Given the description of an element on the screen output the (x, y) to click on. 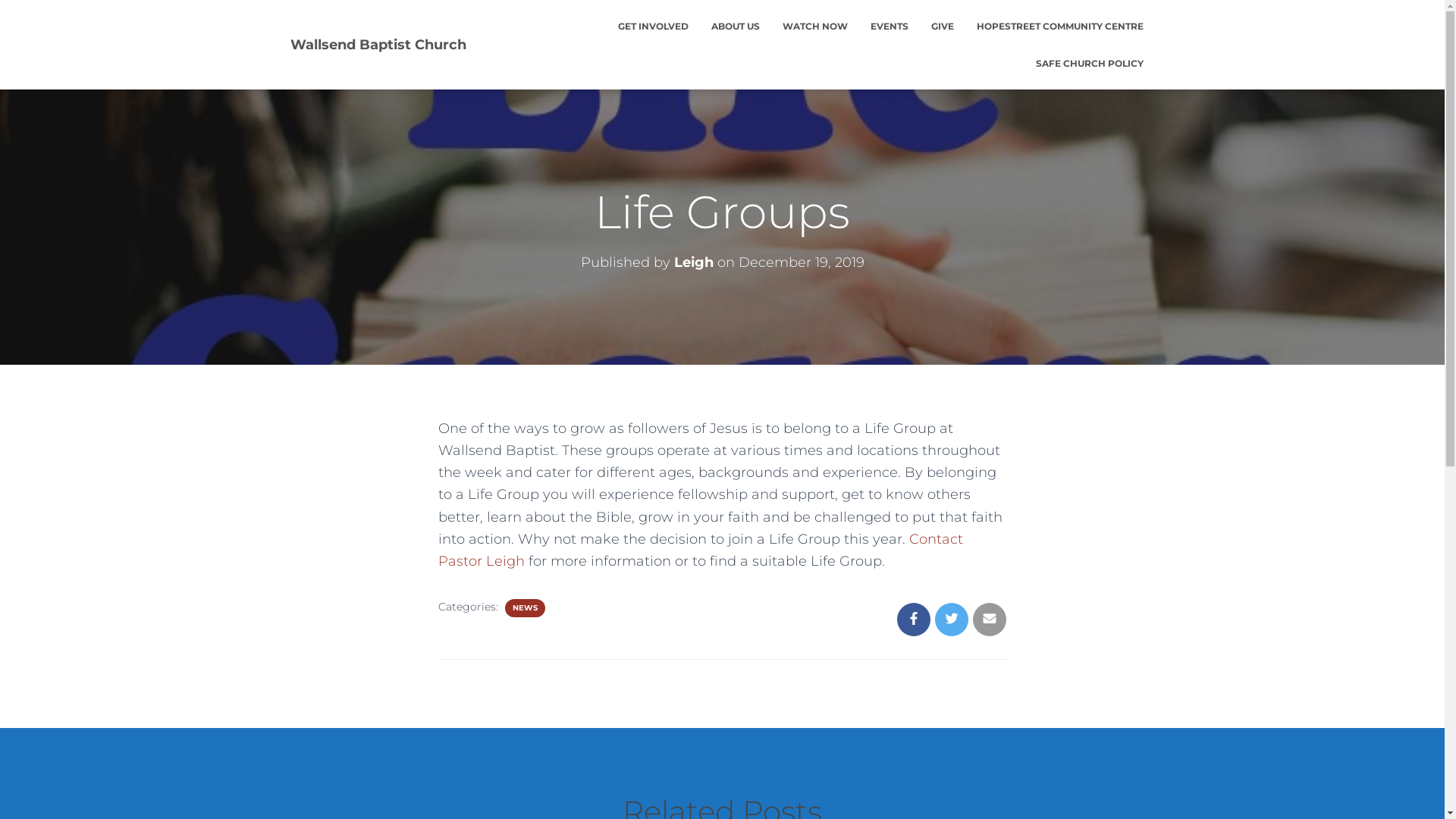
EVENTS Element type: text (888, 25)
NEWS Element type: text (524, 608)
GIVE Element type: text (941, 25)
ABOUT US Element type: text (734, 25)
SAFE CHURCH POLICY Element type: text (1088, 62)
Contact Pastor Leigh Element type: text (700, 549)
GET INVOLVED Element type: text (652, 25)
Leigh Element type: text (692, 262)
WATCH NOW Element type: text (814, 25)
HOPESTREET COMMUNITY CENTRE Element type: text (1059, 25)
Wallsend Baptist Church Element type: text (378, 44)
